Given the description of an element on the screen output the (x, y) to click on. 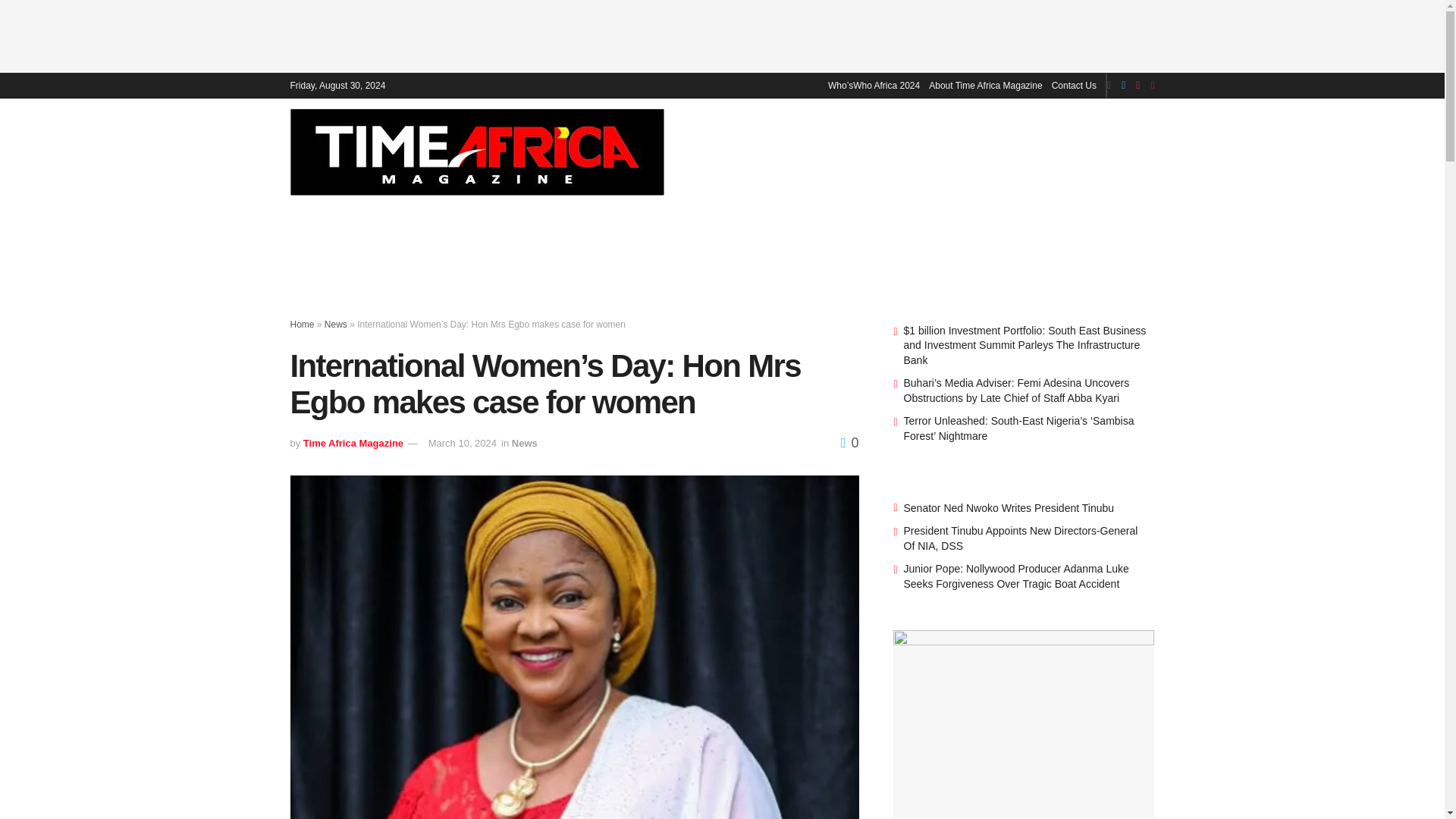
MAGAZINE (761, 151)
WORLD NEWS (896, 151)
NEWS (822, 151)
COLUMN (1229, 151)
LIFESTYLE (1096, 151)
SPORTS (1164, 151)
About Time Africa Magazine (985, 85)
POLITICS (976, 151)
Contact Us (1073, 85)
CRIME (1034, 151)
